Given the description of an element on the screen output the (x, y) to click on. 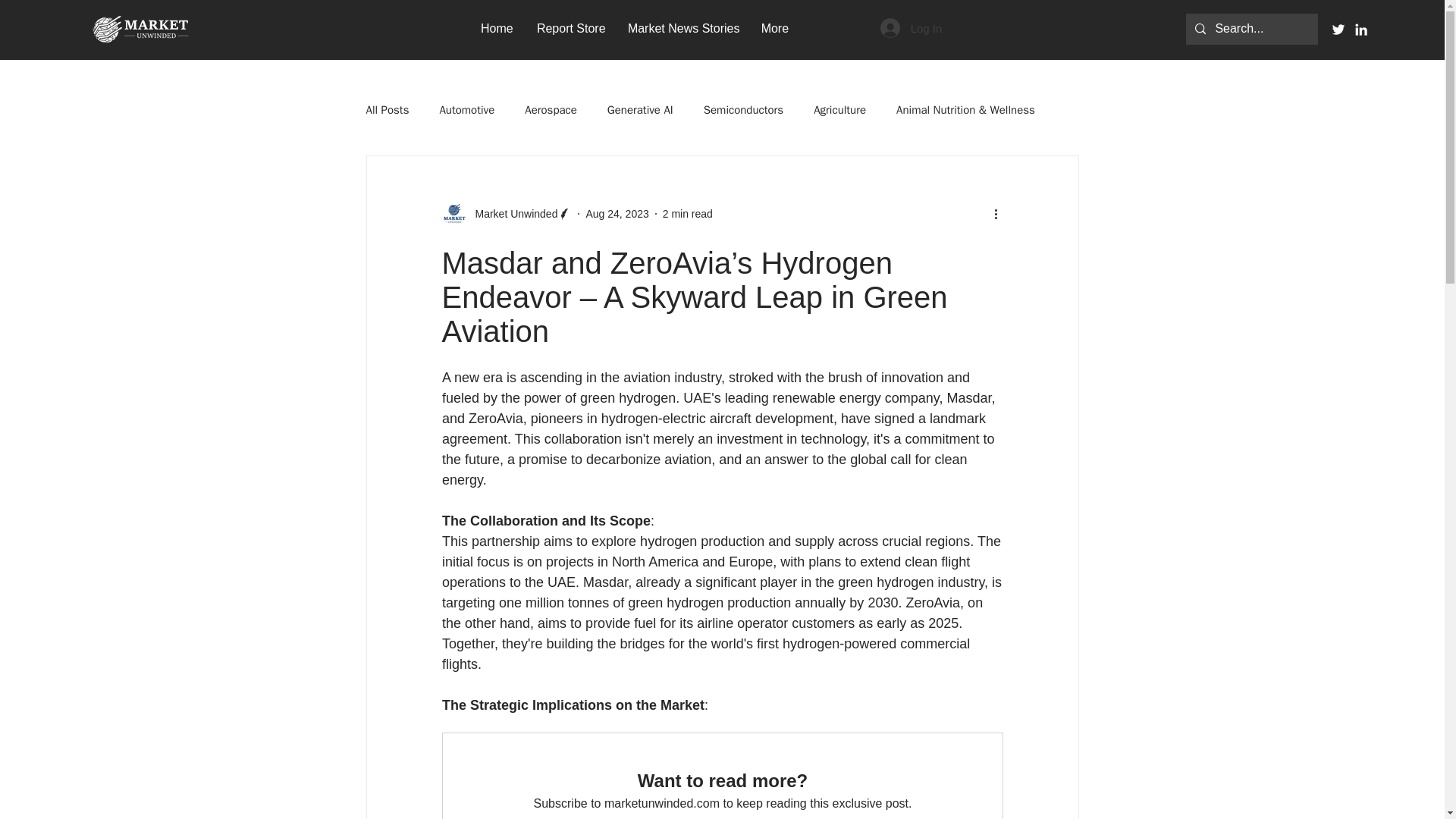
Automotive (467, 110)
Market Unwinded Logo.png (140, 29)
Agriculture (839, 110)
Report Store (570, 27)
Log In (911, 27)
Aug 24, 2023 (616, 214)
Market News Stories (682, 27)
All Posts (387, 110)
Market Unwinded (511, 213)
2 min read (687, 214)
Generative AI (639, 110)
Aerospace (550, 110)
Market Unwinded (506, 213)
Semiconductors (743, 110)
Home (496, 27)
